Given the description of an element on the screen output the (x, y) to click on. 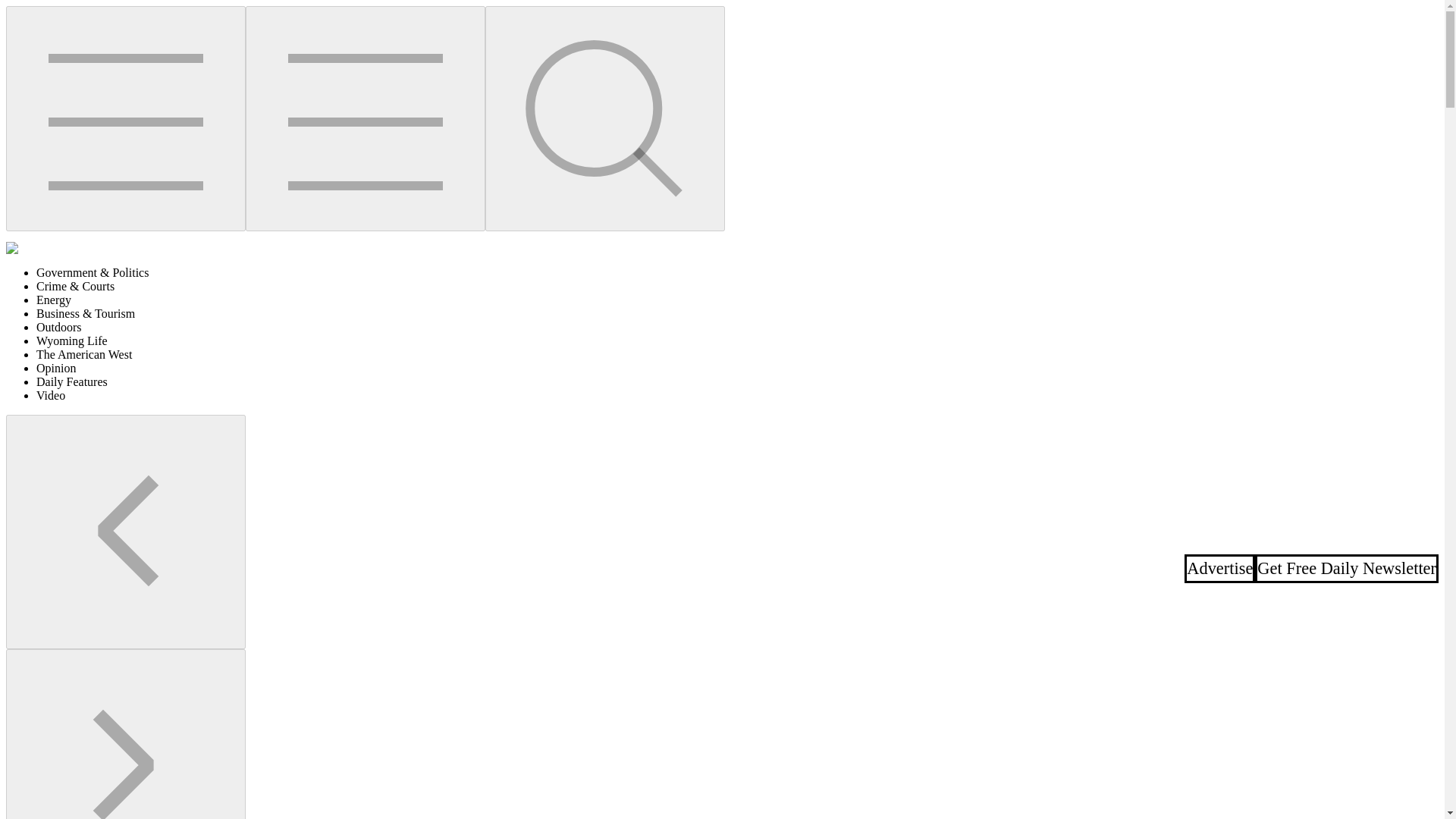
Outdoors (58, 327)
Menu (125, 117)
Daily Features (71, 381)
Caret left (125, 531)
Energy (53, 299)
Advertise (1220, 568)
Video (50, 395)
Wyoming Life (71, 340)
Caret right (125, 734)
Menu (365, 117)
